Given the description of an element on the screen output the (x, y) to click on. 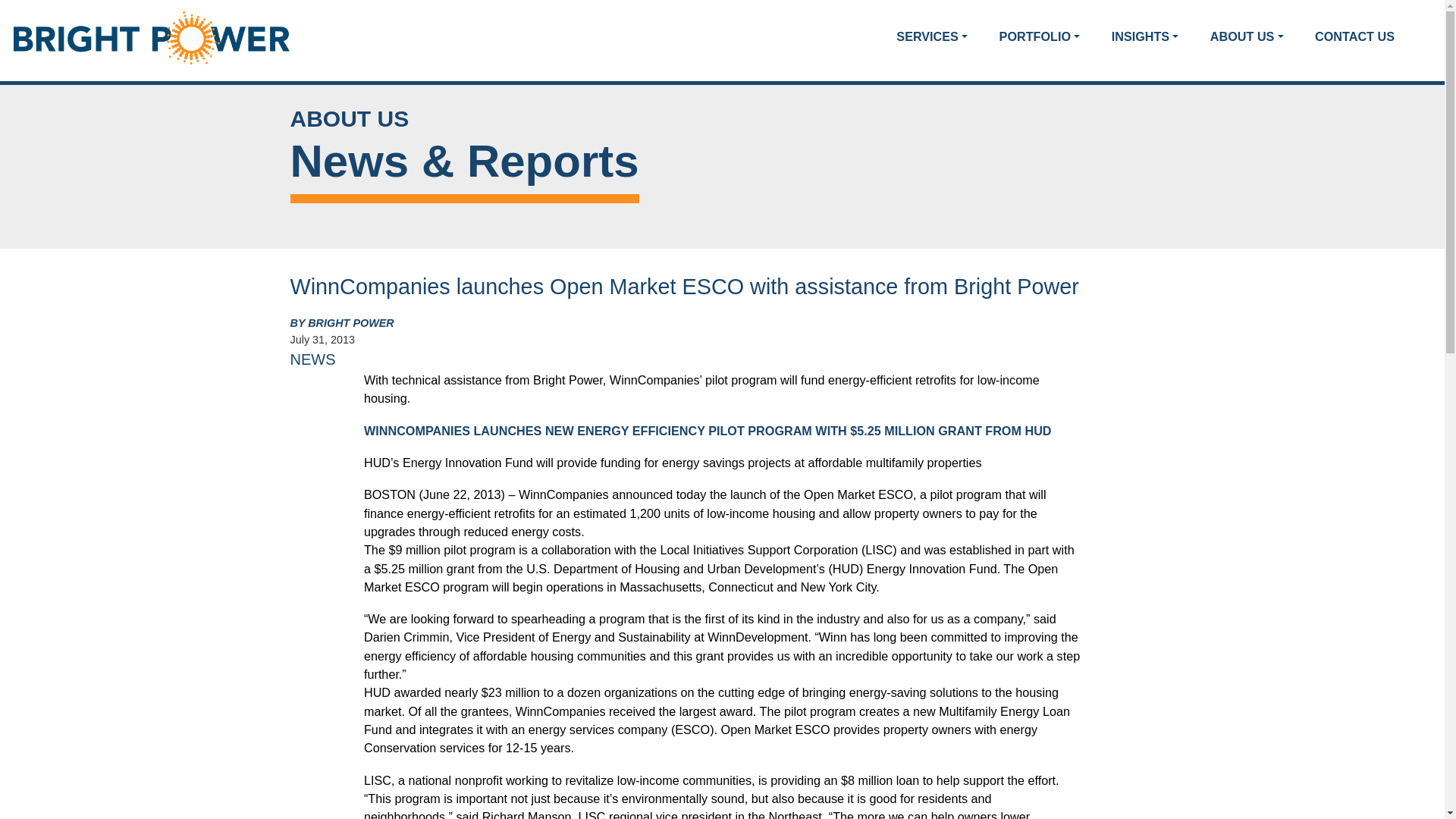
SERVICES (931, 36)
PORTFOLIO (1039, 36)
INSIGHTS (1144, 36)
Services (931, 36)
